Given the description of an element on the screen output the (x, y) to click on. 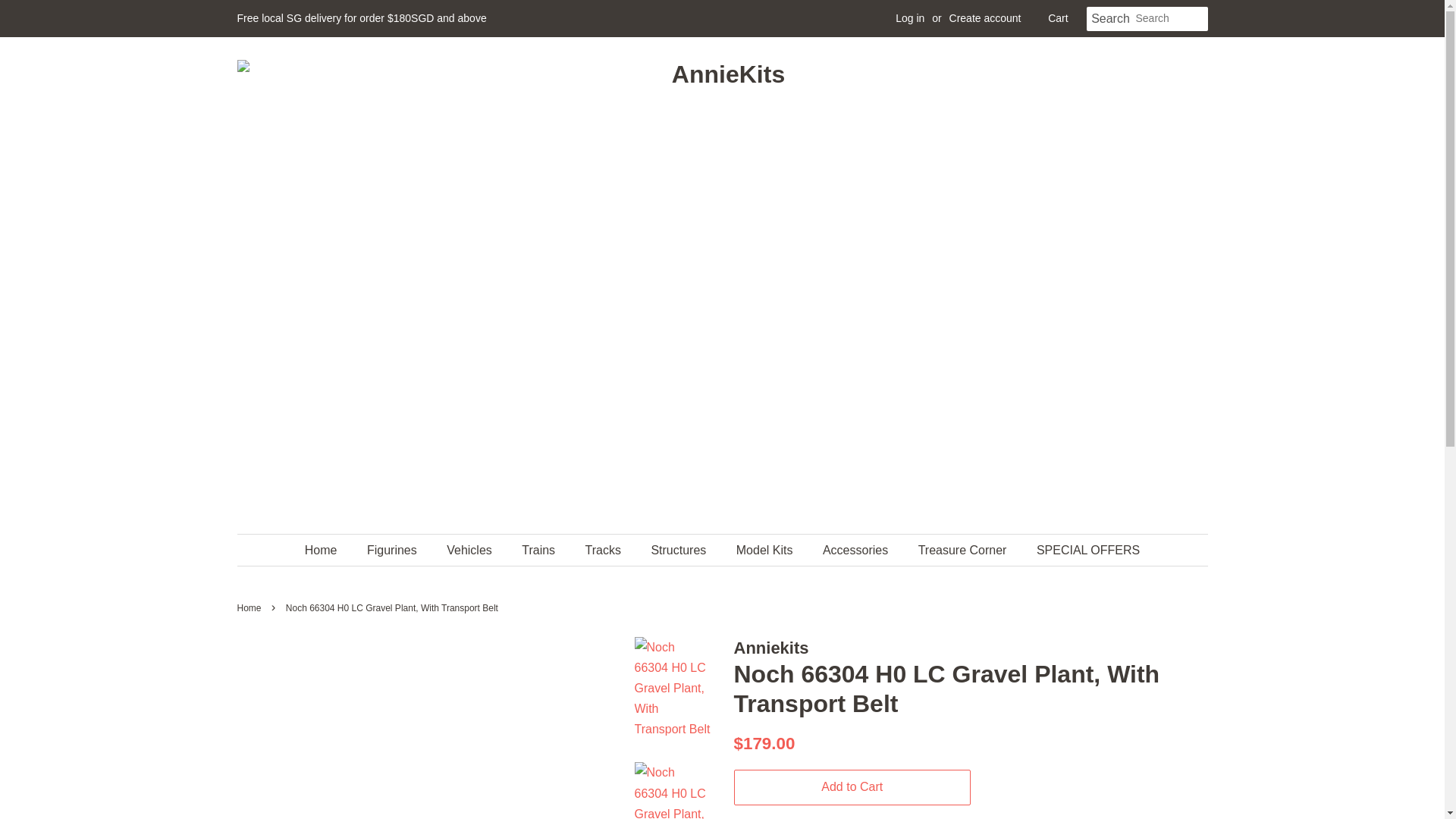
Create account (985, 18)
Cart (1057, 18)
Back to the frontpage (249, 607)
Log in (909, 18)
Search (1110, 18)
